Given the description of an element on the screen output the (x, y) to click on. 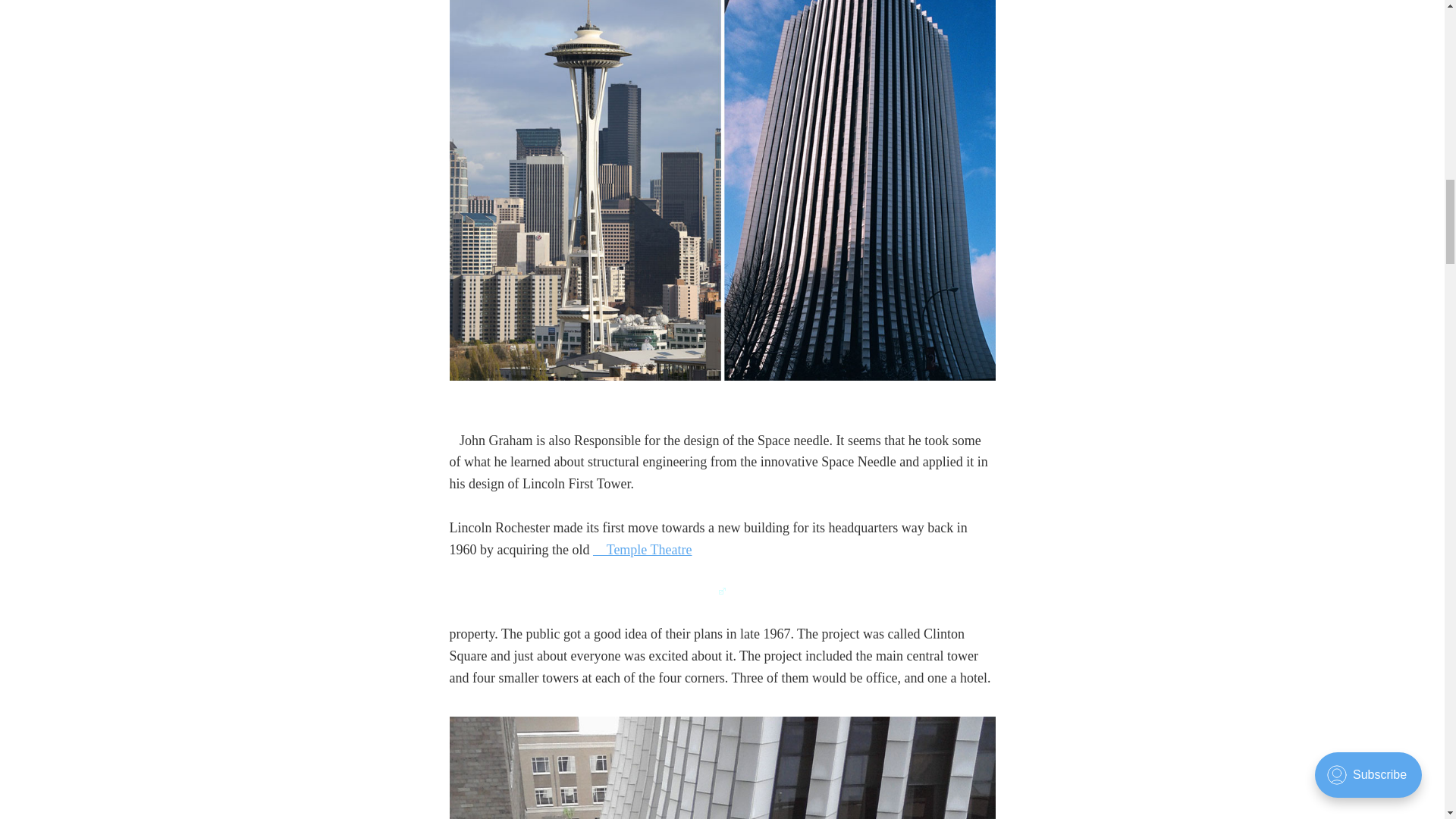
    Temple Theatre (642, 549)
